Given the description of an element on the screen output the (x, y) to click on. 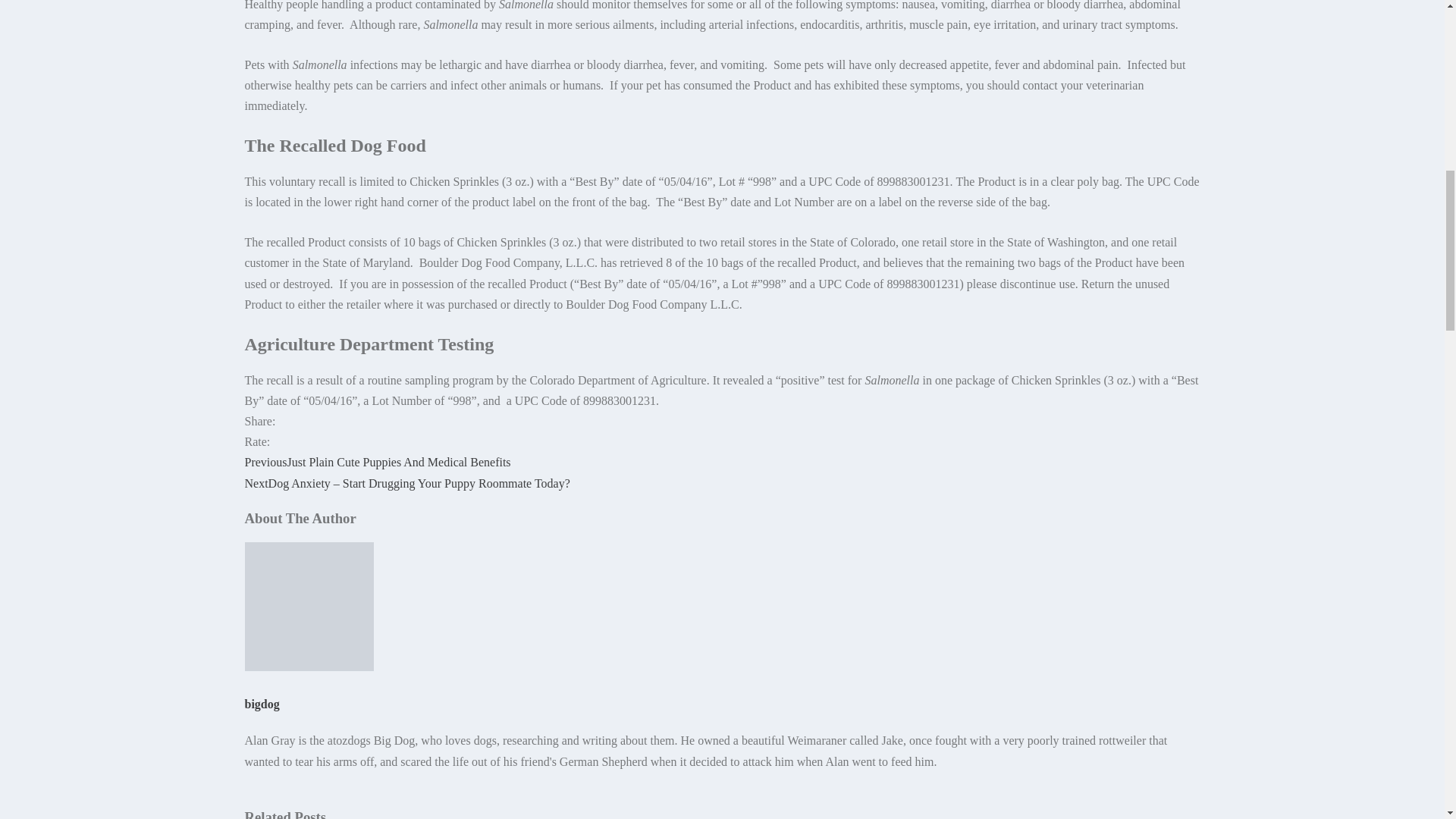
bigdog (261, 703)
PreviousJust Plain Cute Puppies And Medical Benefits (377, 461)
View all posts by bigdog (261, 703)
